Given the description of an element on the screen output the (x, y) to click on. 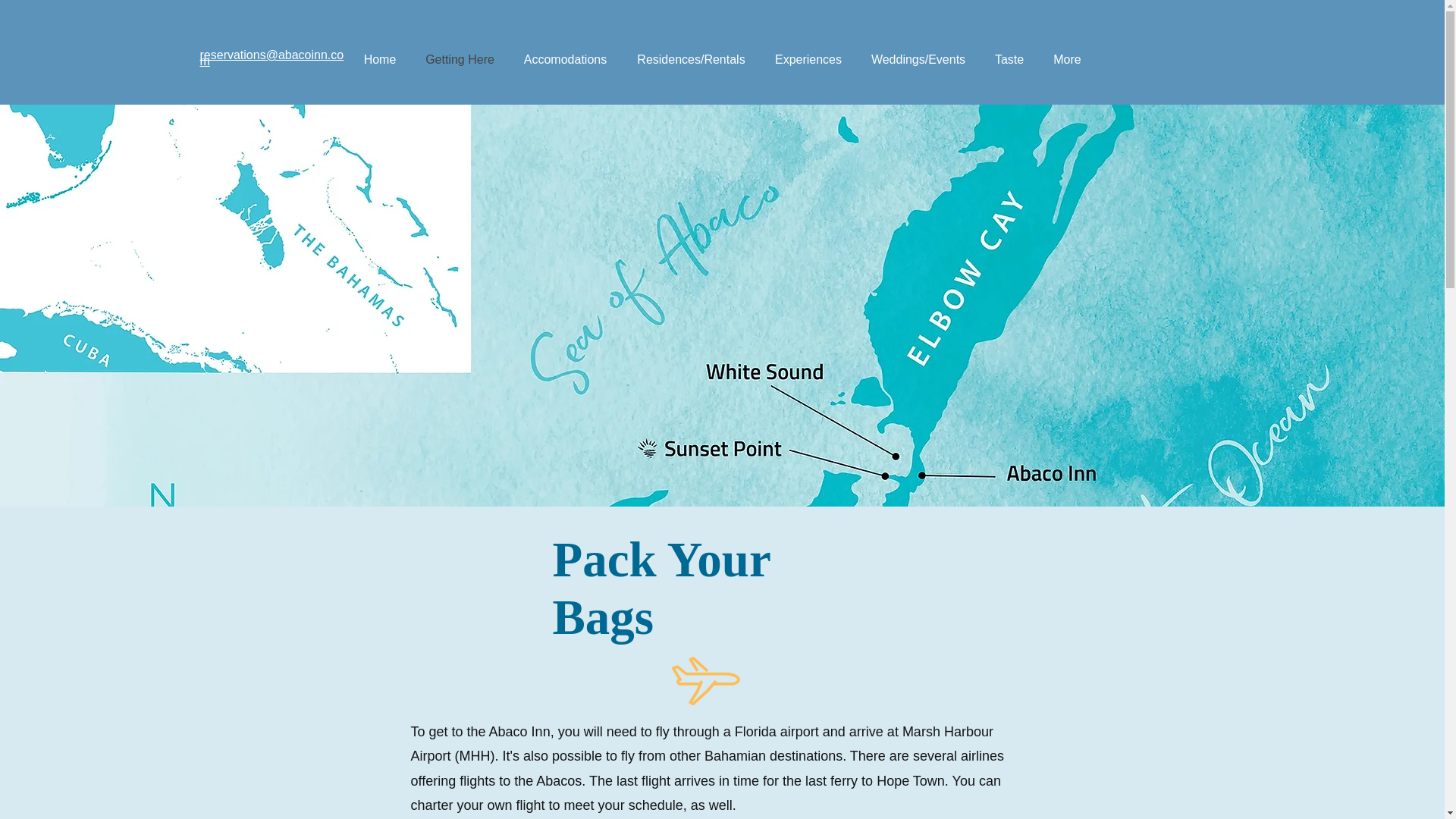
Getting Here (459, 59)
Accomodations (564, 59)
Taste (1008, 59)
Home (380, 59)
Experiences (808, 59)
